Given the description of an element on the screen output the (x, y) to click on. 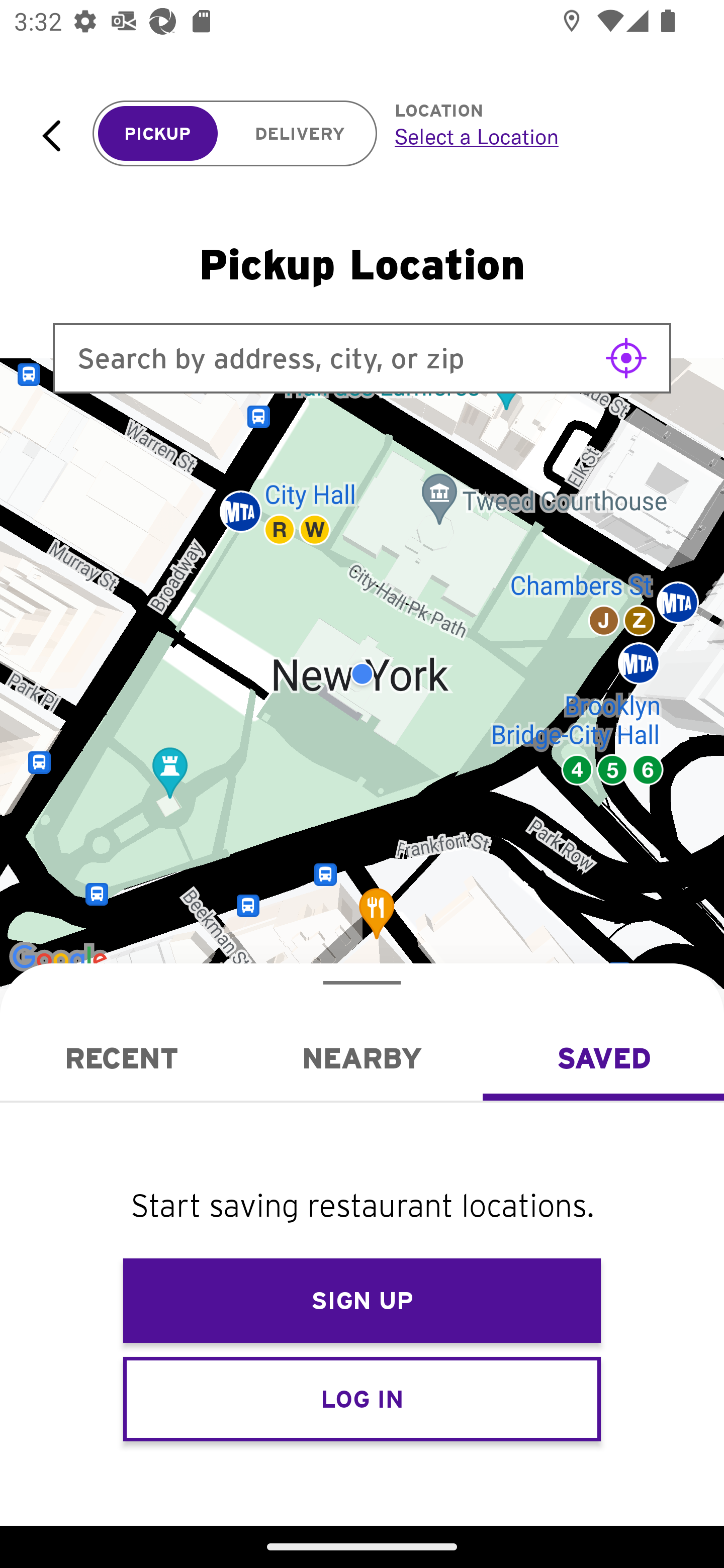
PICKUP (157, 133)
DELIVERY (299, 133)
Select a Location (536, 136)
Search by address, city, or zip (361, 358)
Google Map (362, 674)
Recent RECENT (120, 1058)
Nearby NEARBY (361, 1058)
SIGN UP (361, 1300)
LOG IN (361, 1398)
